Given the description of an element on the screen output the (x, y) to click on. 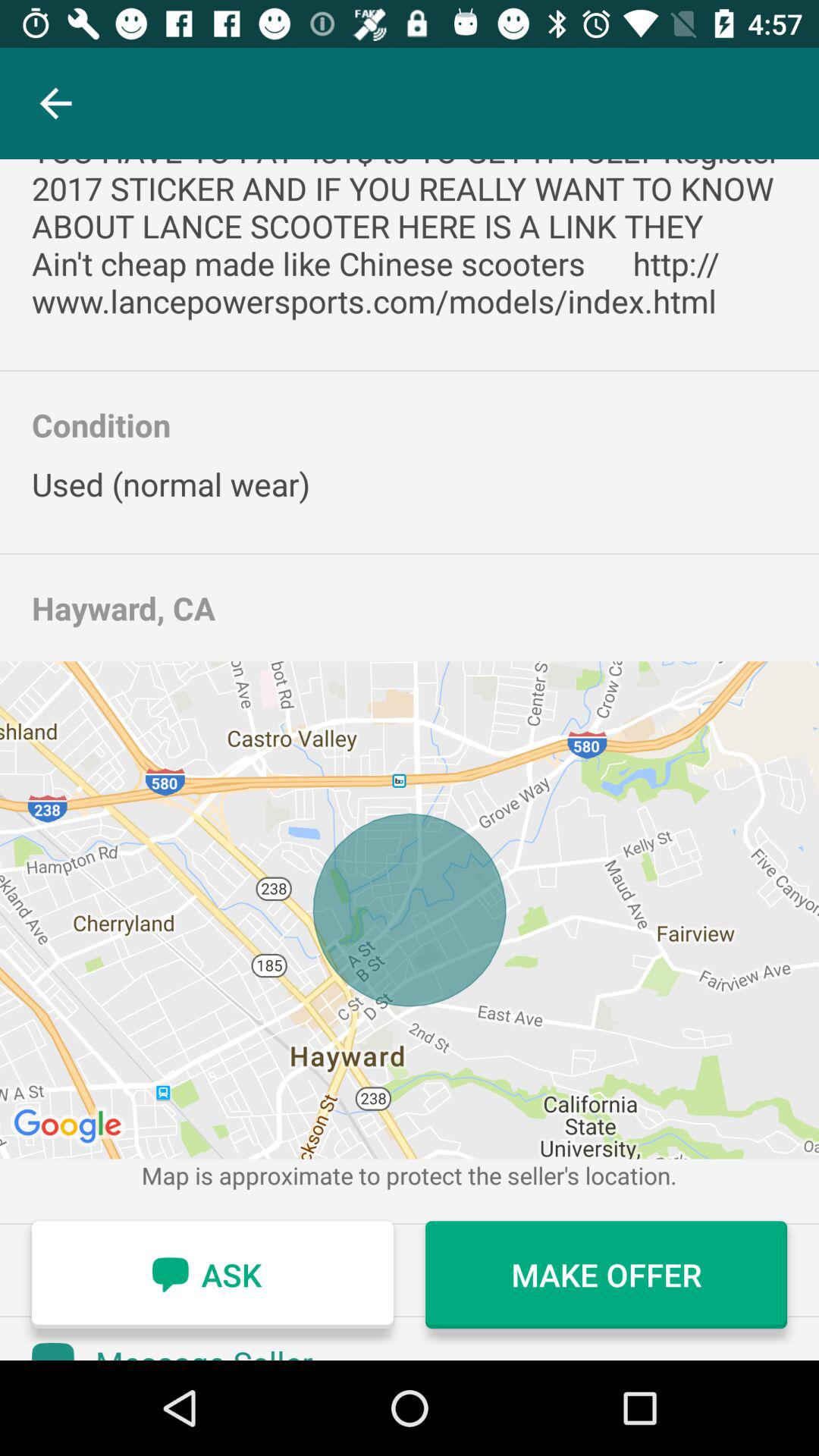
tap the icon to the left of the make offer item (212, 1274)
